Given the description of an element on the screen output the (x, y) to click on. 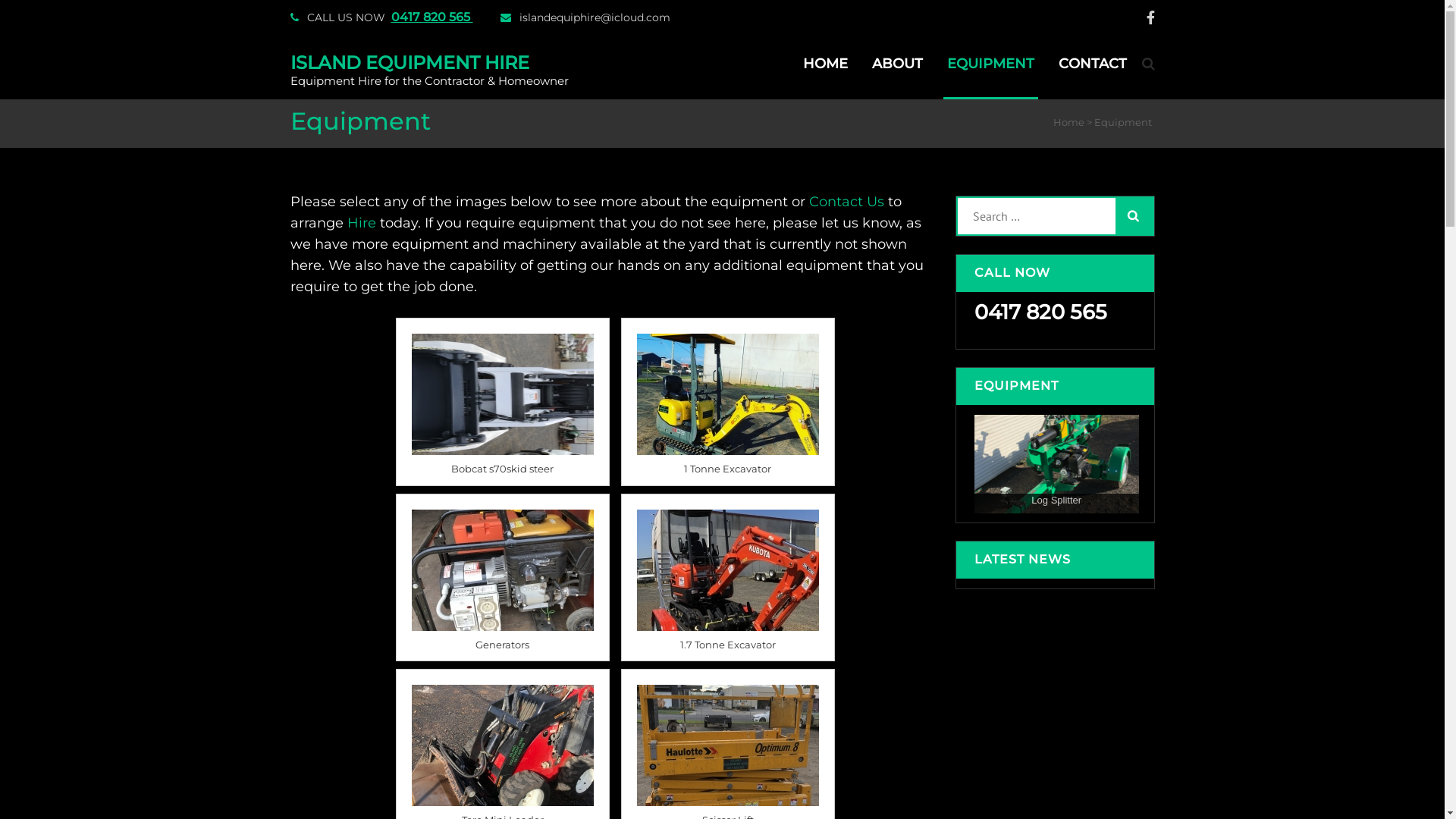
HOME Element type: text (825, 76)
Hire Element type: text (361, 222)
Log Splitter Element type: text (1056, 464)
facebook Element type: hover (1150, 17)
1 tonne excavator Element type: hover (728, 394)
Bobcat s70skid steer Element type: text (502, 469)
EQUIPMENT Element type: text (990, 76)
ABOUT Element type: text (896, 76)
Search Element type: text (1134, 215)
islandequiphire@icloud.com Element type: text (593, 17)
0417 820 565 Element type: text (430, 17)
Home Element type: text (1067, 122)
CONTACT Element type: text (1091, 76)
ISLAND EQUIPMENT HIRE Element type: text (408, 62)
Contact Us Element type: text (845, 201)
Generators Element type: text (502, 645)
1.7 Tonne Excavator Element type: text (728, 645)
8 kva or silenced 2kva generators available Element type: hover (502, 569)
19e Electric Scissor Lift, comes on trailer Element type: hover (728, 745)
1 Tonne Excavator Element type: text (728, 469)
